Given the description of an element on the screen output the (x, y) to click on. 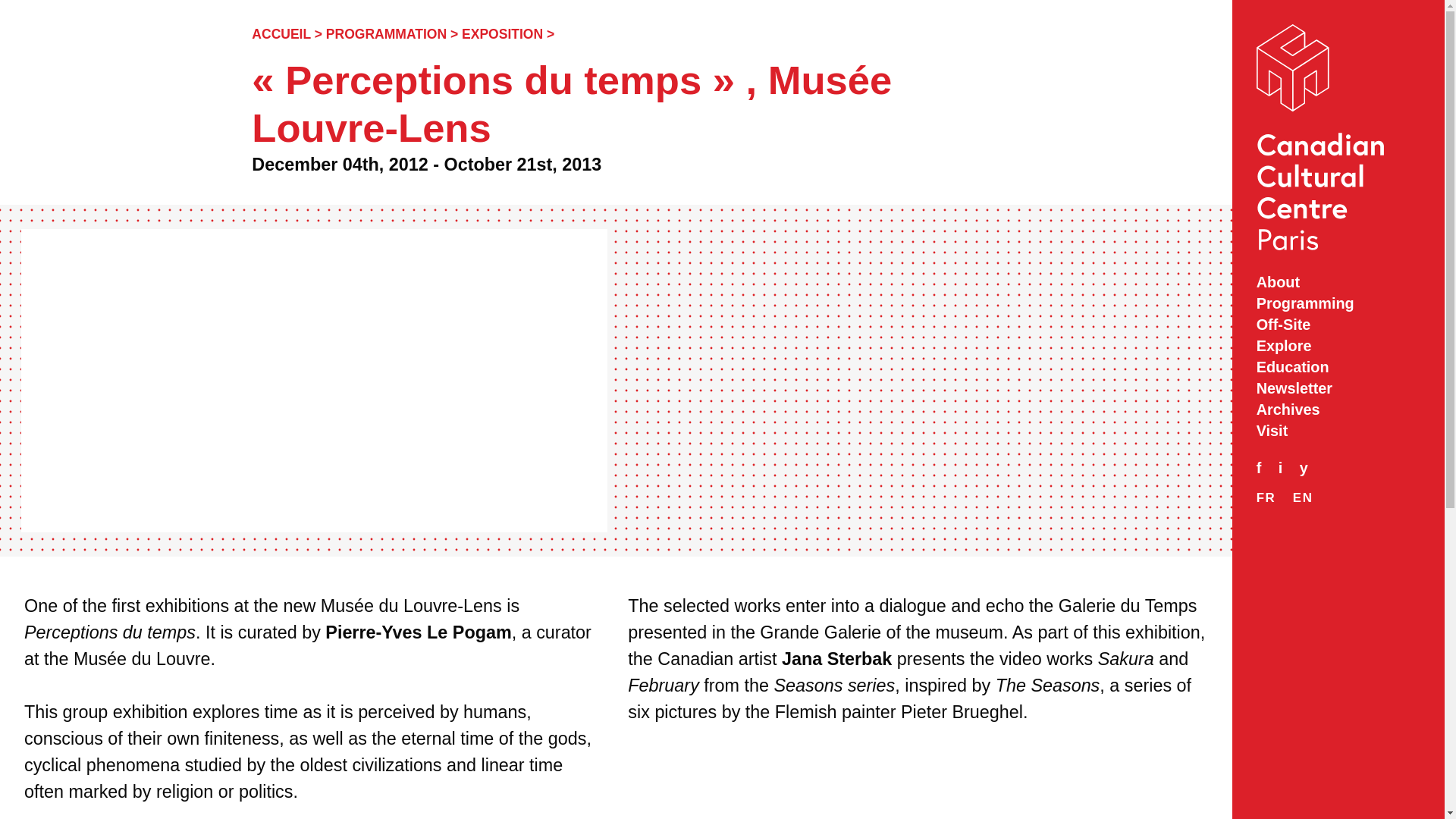
Archives (1338, 409)
PROGRAMMATION (386, 33)
Education (1338, 367)
Visit (1338, 430)
Programming (1338, 303)
YouTube (1310, 468)
ACCUEIL (281, 33)
y (1310, 468)
About (1338, 282)
FR (1266, 497)
EN (1302, 497)
Explore (1338, 346)
Newsletter (1338, 388)
Off-Site (1338, 324)
EXPOSITION (502, 33)
